Given the description of an element on the screen output the (x, y) to click on. 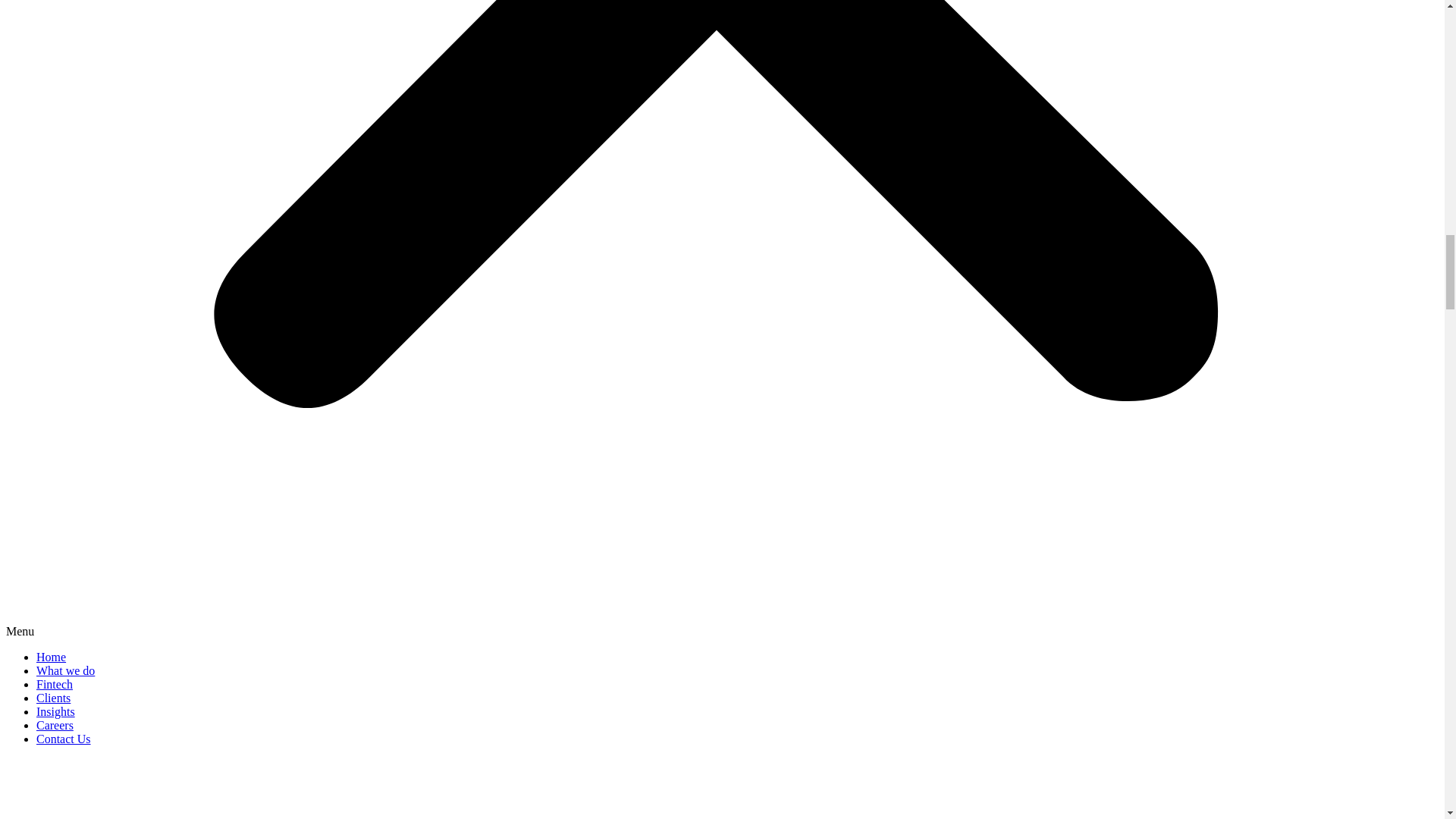
What we do (65, 670)
Fintech (54, 684)
Insights (55, 711)
Careers (55, 725)
Contact Us (63, 738)
Home (50, 656)
Clients (52, 697)
